Given the description of an element on the screen output the (x, y) to click on. 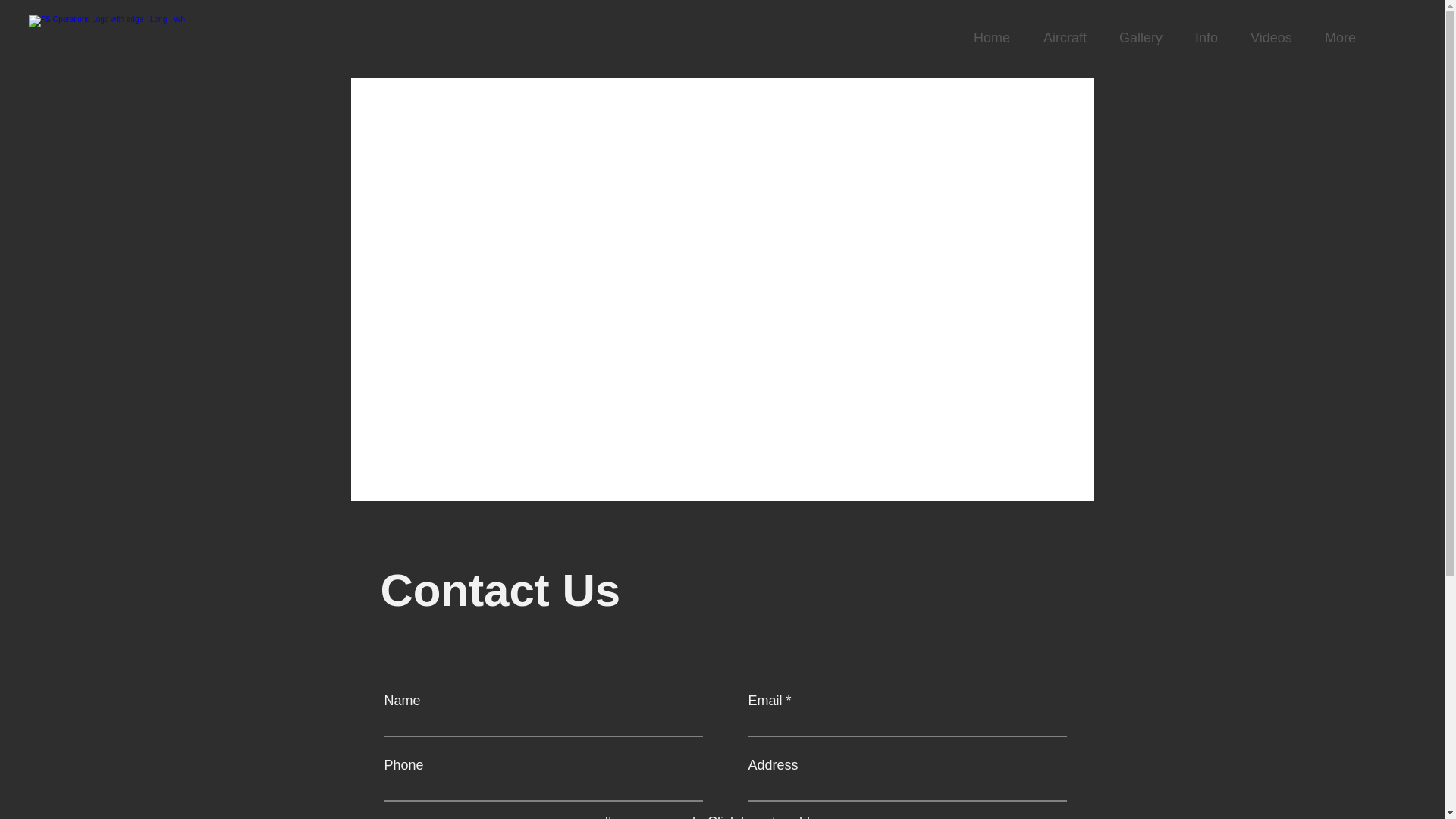
Videos Element type: text (1276, 37)
Aircraft Element type: text (1069, 37)
Gallery Element type: text (1145, 37)
Home Element type: text (997, 37)
Info Element type: text (1211, 37)
